Given the description of an element on the screen output the (x, y) to click on. 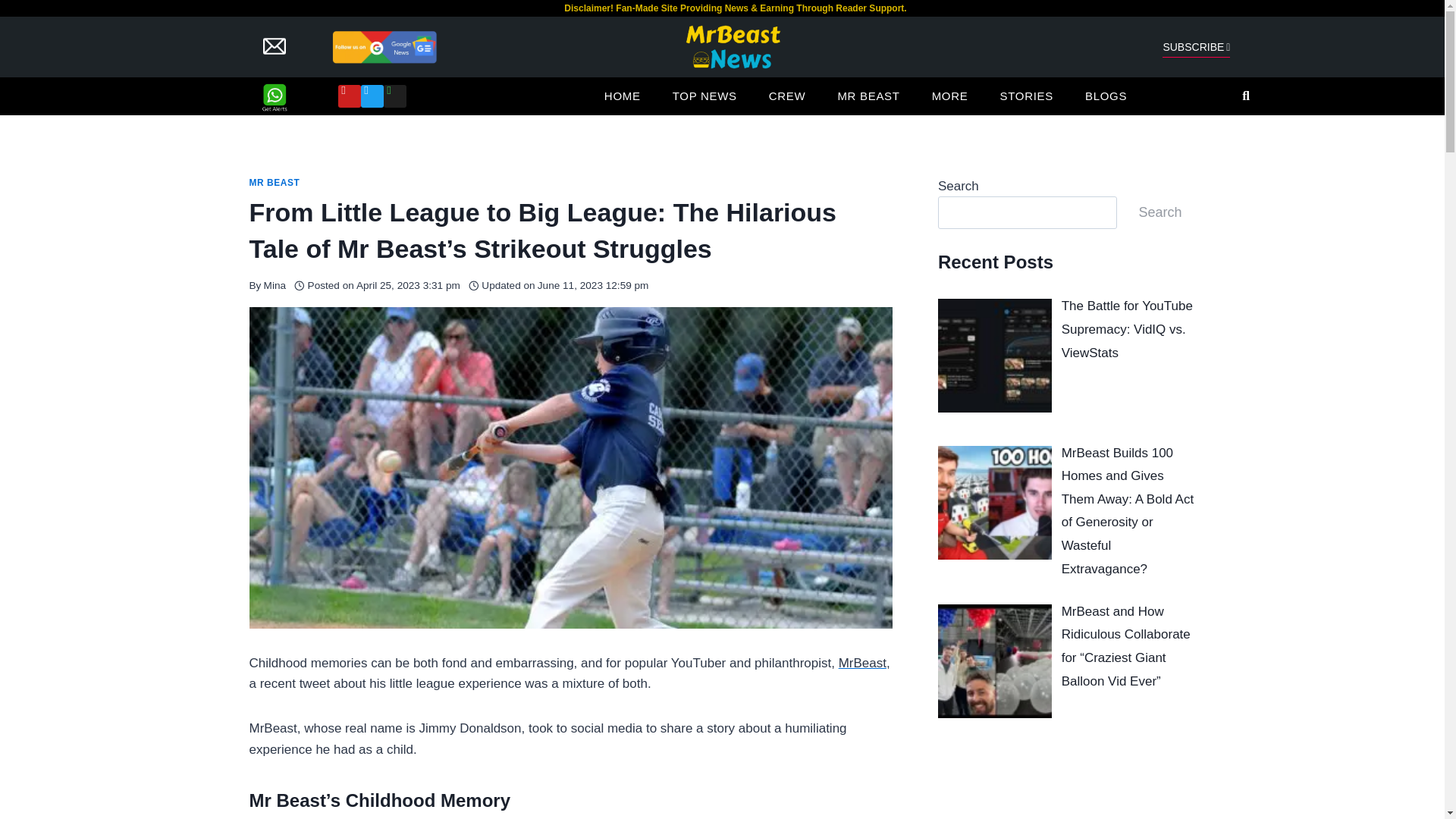
TOP NEWS (704, 95)
MR BEAST (868, 95)
SUBSCRIBE (1195, 47)
Twitter (372, 96)
Youtube (349, 96)
STORIES (1025, 95)
The Battle for YouTube Supremacy: VidIQ vs. ViewStats 16 (994, 355)
Tree (395, 96)
